Given the description of an element on the screen output the (x, y) to click on. 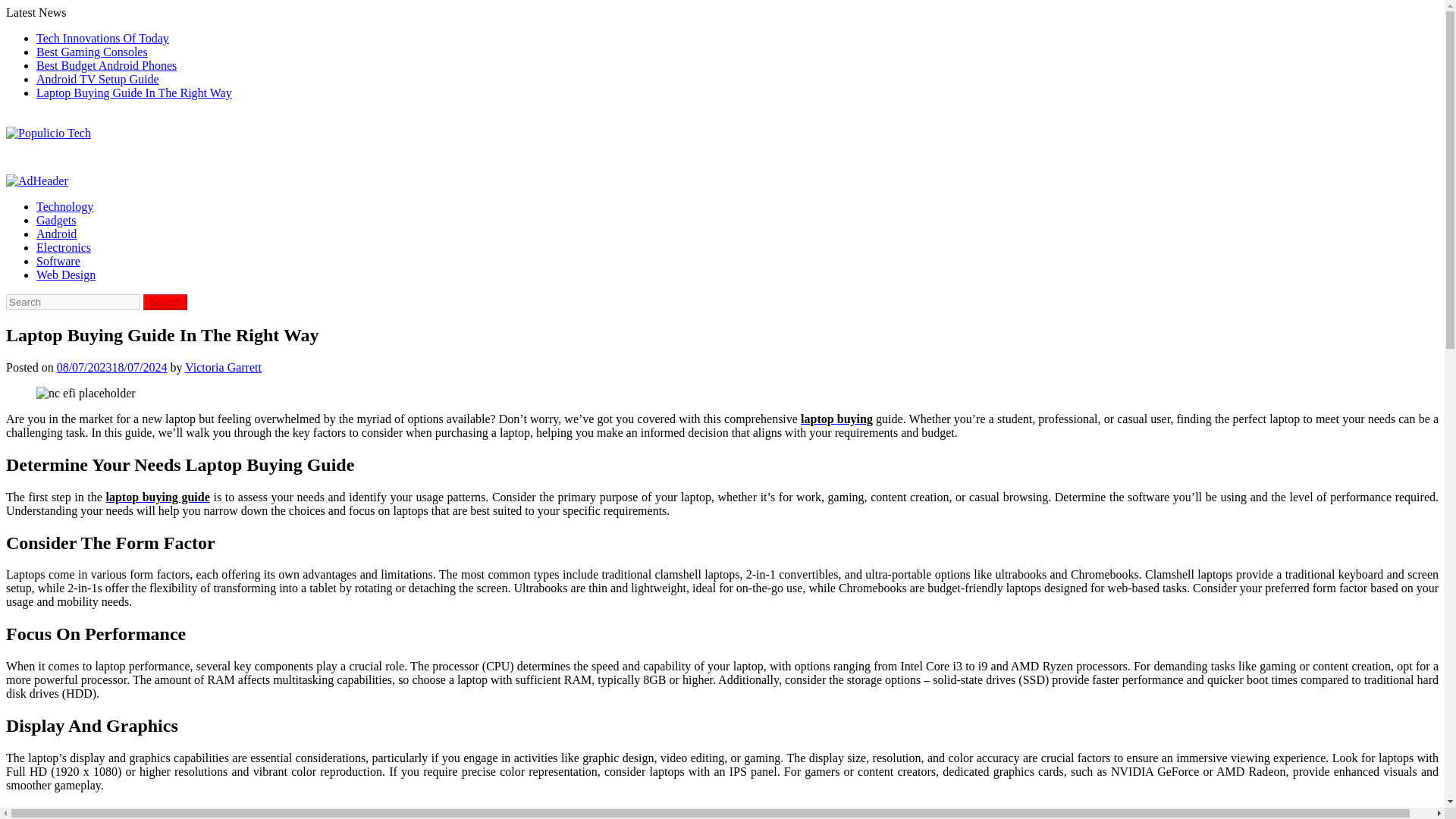
Search (164, 302)
Search (164, 302)
Victoria Garrett (223, 367)
Android TV Setup Guide (97, 78)
laptop buying (836, 418)
Laptop Buying Guide In The Right Way (133, 92)
Tech Innovations Of Today (102, 38)
Android TV Setup Guide (97, 78)
Electronics (63, 246)
laptop buying guide (157, 496)
Laptop Buying Guide In The Right Way (85, 393)
Tech Innovations Of Today (102, 38)
Web Design (66, 274)
Technology (64, 205)
Best Gaming Consoles (92, 51)
